Given the description of an element on the screen output the (x, y) to click on. 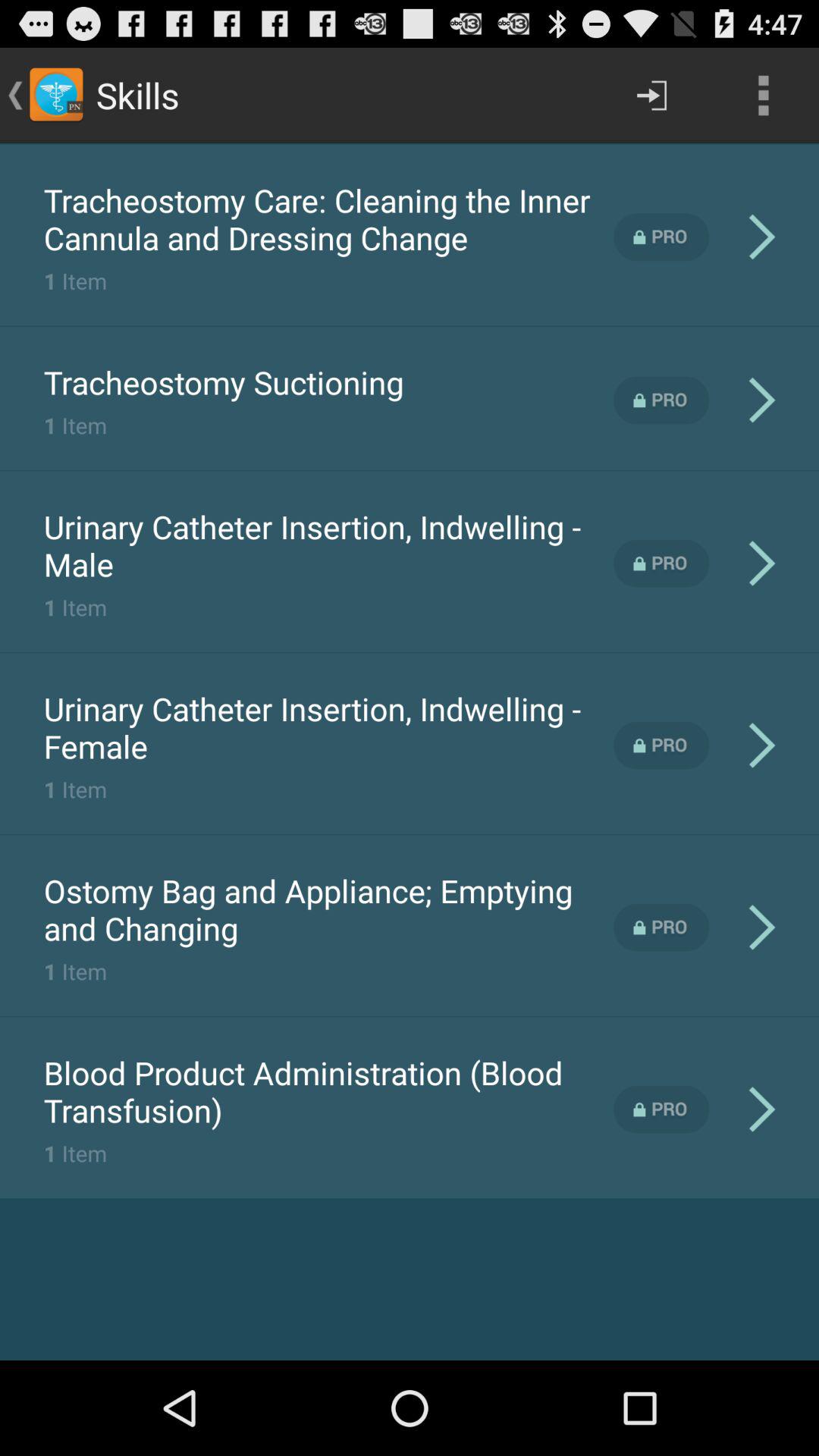
pro feature (661, 745)
